Given the description of an element on the screen output the (x, y) to click on. 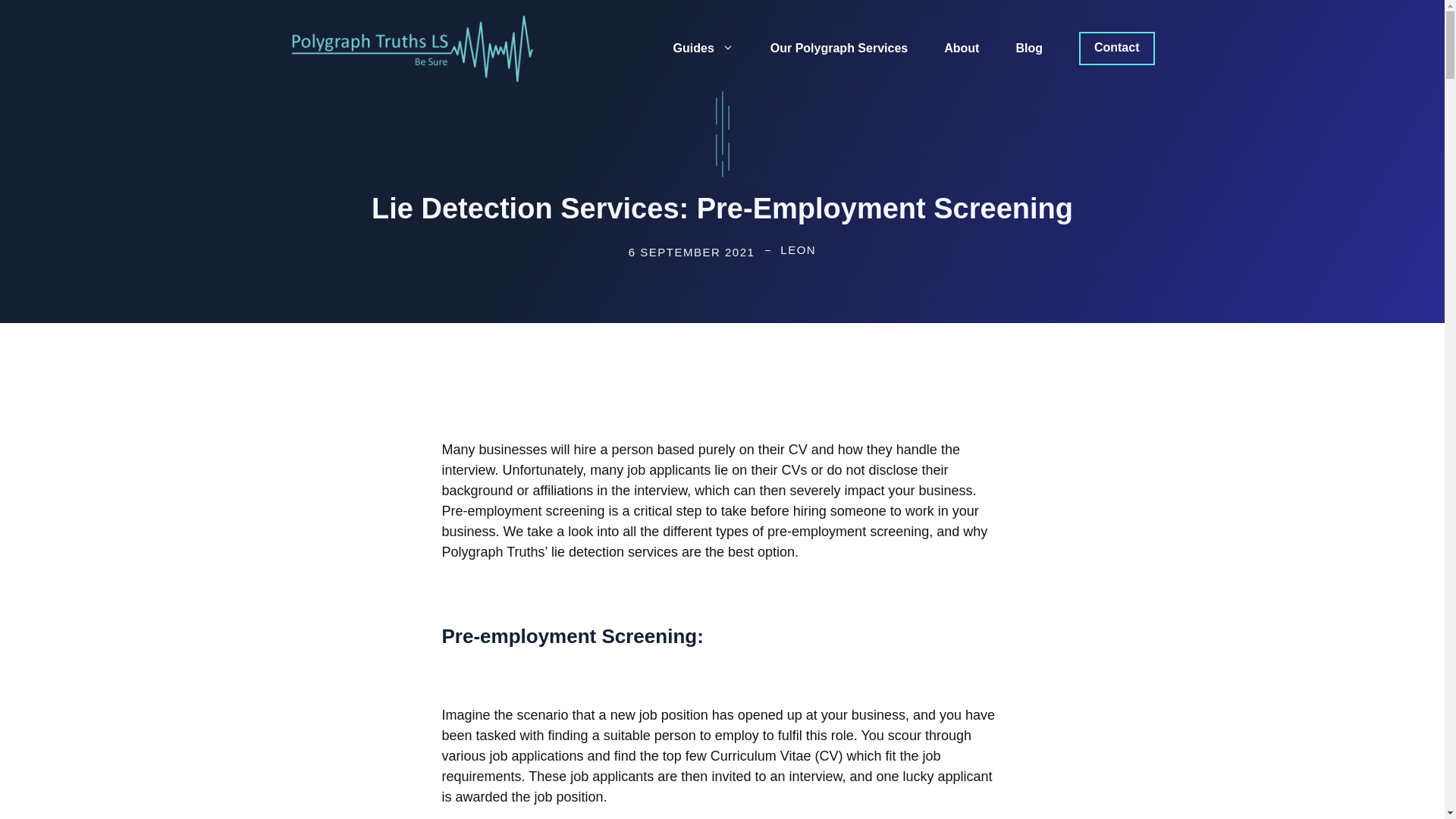
About (961, 48)
lie detection services (614, 551)
Our Polygraph Services (839, 48)
Guides (703, 48)
Blog (1029, 48)
Contact (1116, 48)
